Given the description of an element on the screen output the (x, y) to click on. 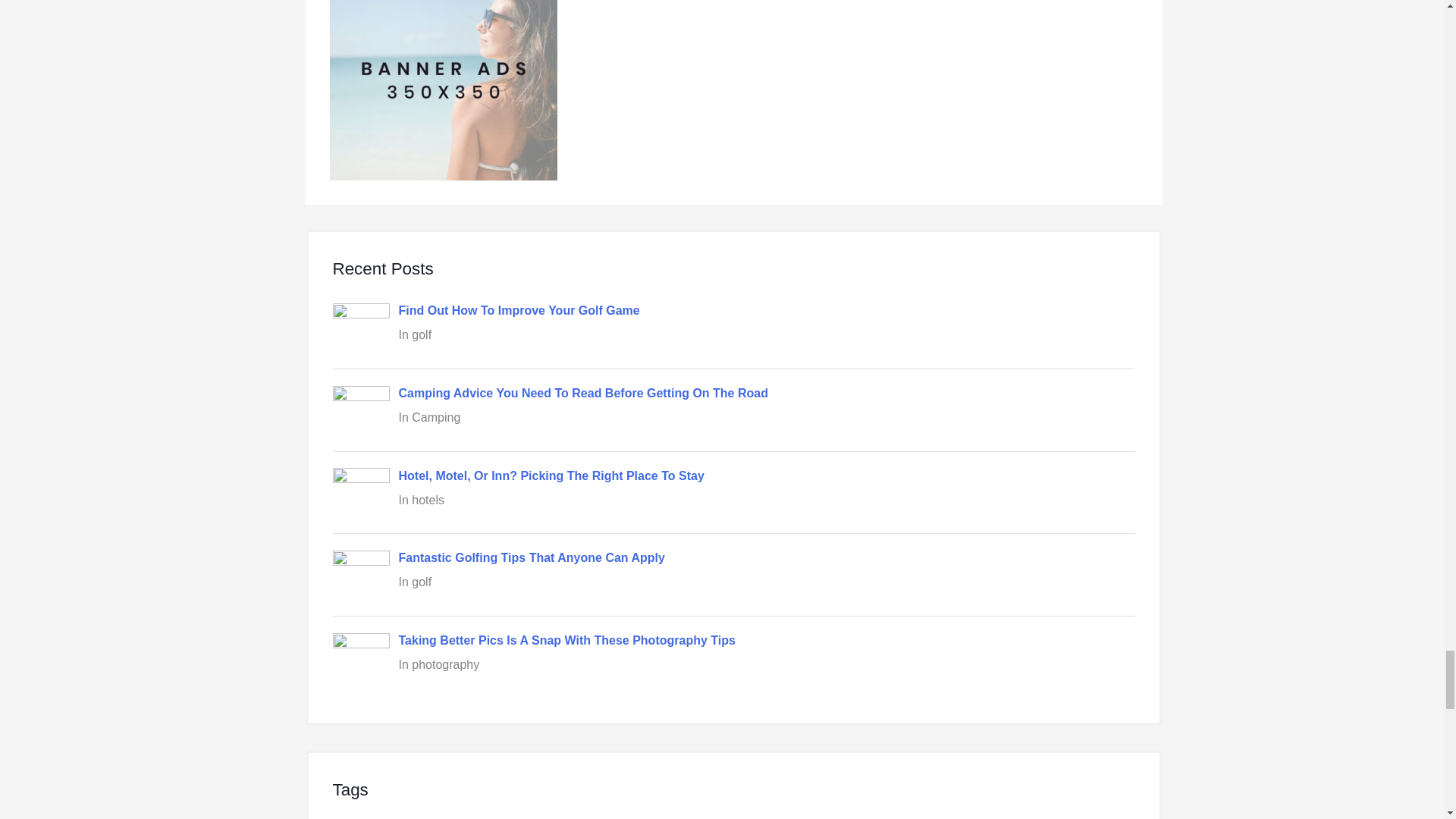
Fantastic Golfing Tips That Anyone Can Apply (531, 557)
Hotel, Motel, Or Inn? Picking The Right Place To Stay (551, 475)
Find Out How To Improve Your Golf Game (519, 309)
Taking Better Pics Is A Snap With These Photography Tips (566, 640)
Camping Advice You Need To Read Before Getting On The Road (583, 392)
